Given the description of an element on the screen output the (x, y) to click on. 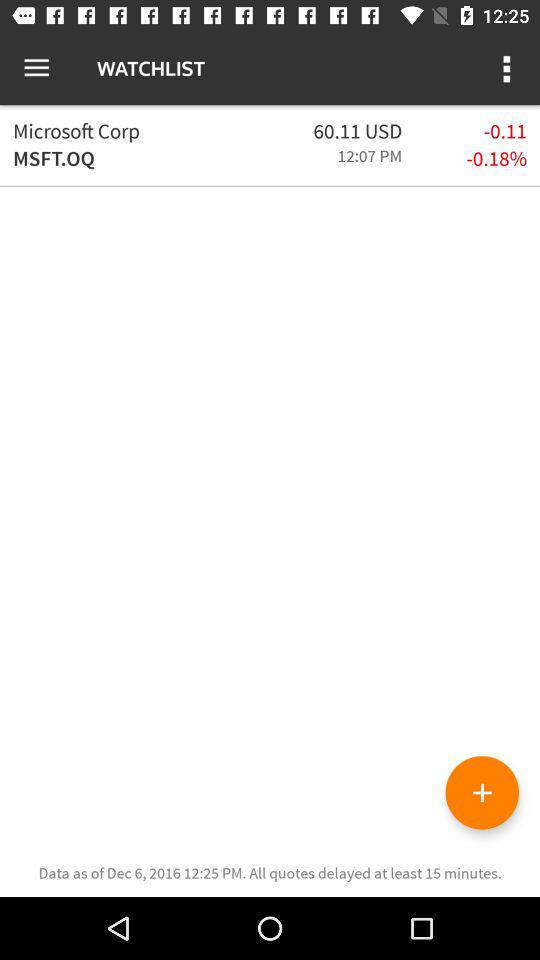
open icon next to the watchlist (508, 67)
